Given the description of an element on the screen output the (x, y) to click on. 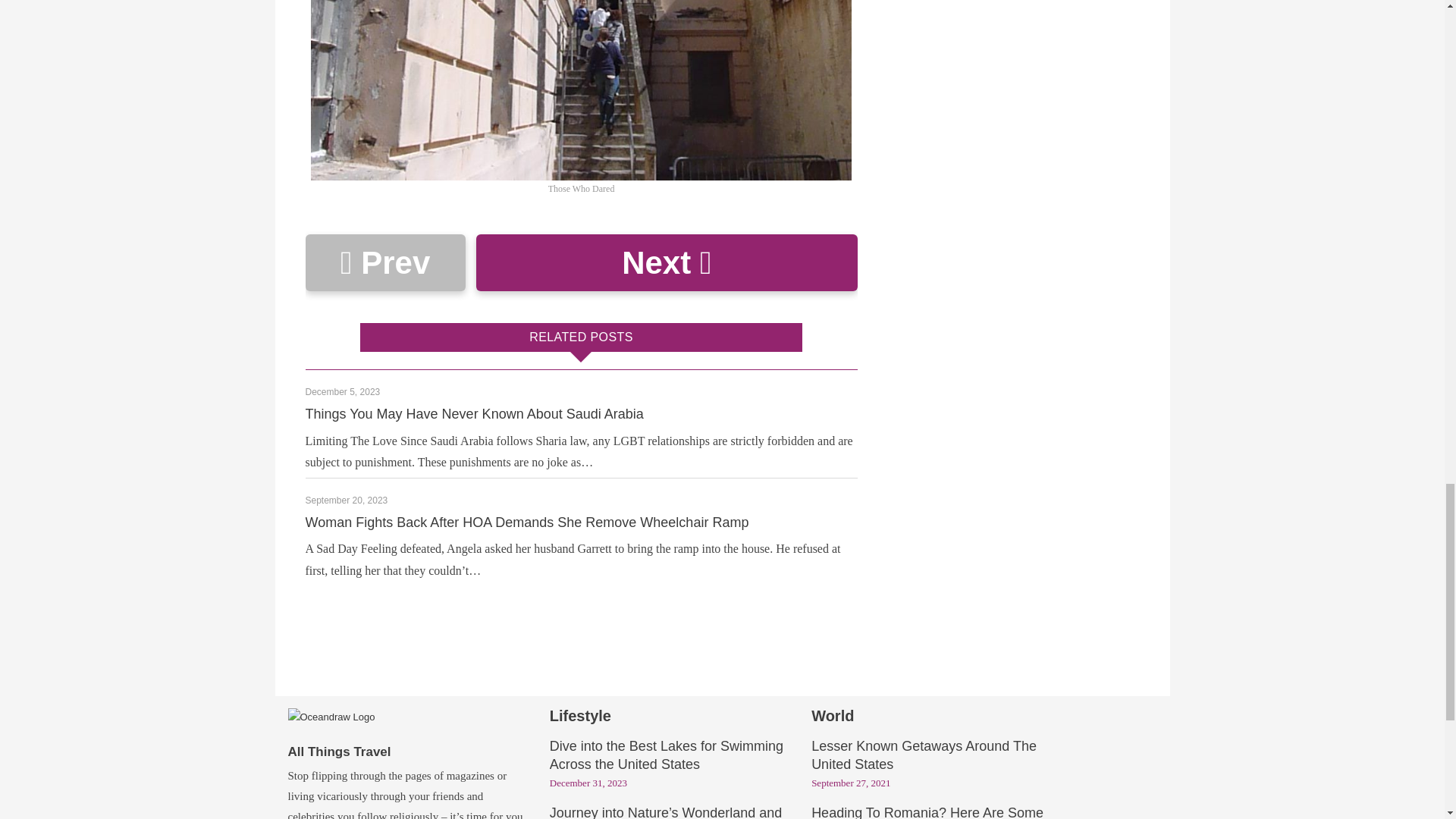
Things You May Have Never Known About Saudi Arabia (473, 413)
Lesser Known Getaways Around The United States (923, 756)
Next (666, 262)
Prev (384, 262)
Heading To Romania? Here Are Some Fun Things To Check Out (926, 813)
